Given the description of an element on the screen output the (x, y) to click on. 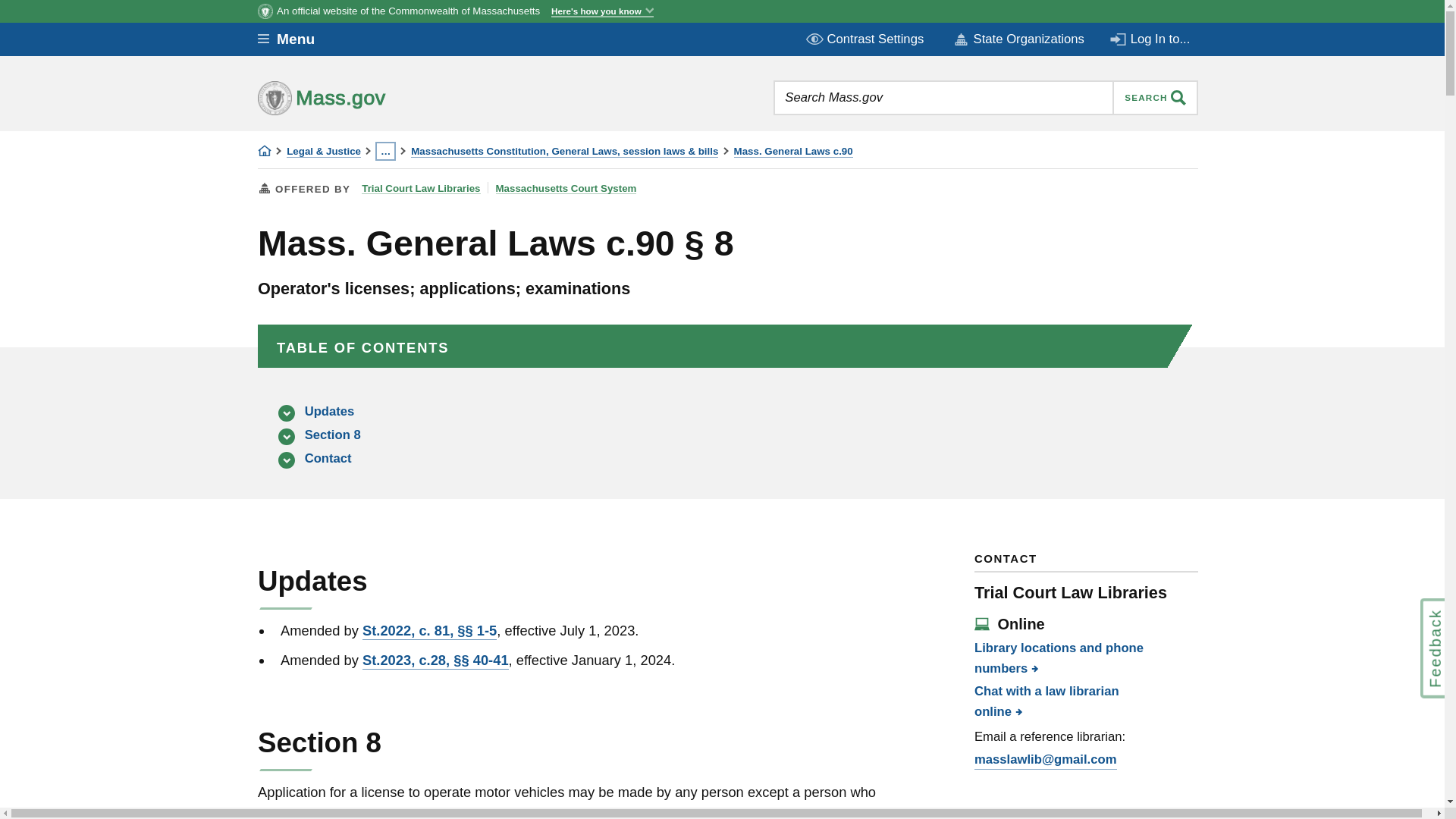
Menu (297, 39)
State Organizations (1018, 39)
Contrast Settings (866, 38)
Mass.gov home page (369, 97)
Log In to... (1151, 38)
